Given the description of an element on the screen output the (x, y) to click on. 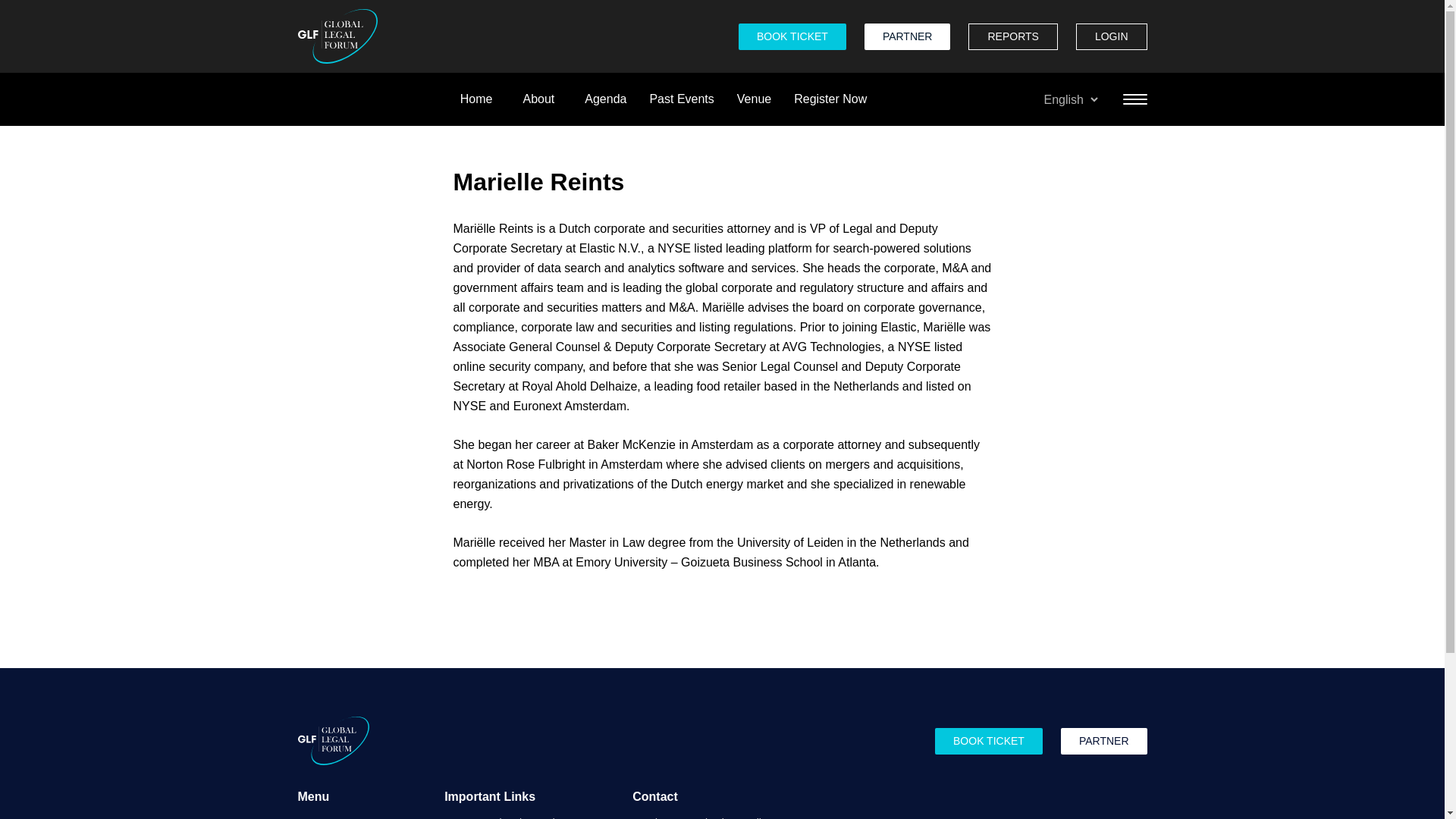
Venue (754, 99)
BOOK TICKET (791, 35)
Home Page (337, 36)
Agenda (605, 99)
Home (475, 99)
LOGIN (1111, 35)
Register Now (830, 99)
About (538, 99)
Past Events (681, 99)
Home Page (332, 740)
PARTNER (907, 35)
REPORTS (1012, 35)
